Given the description of an element on the screen output the (x, y) to click on. 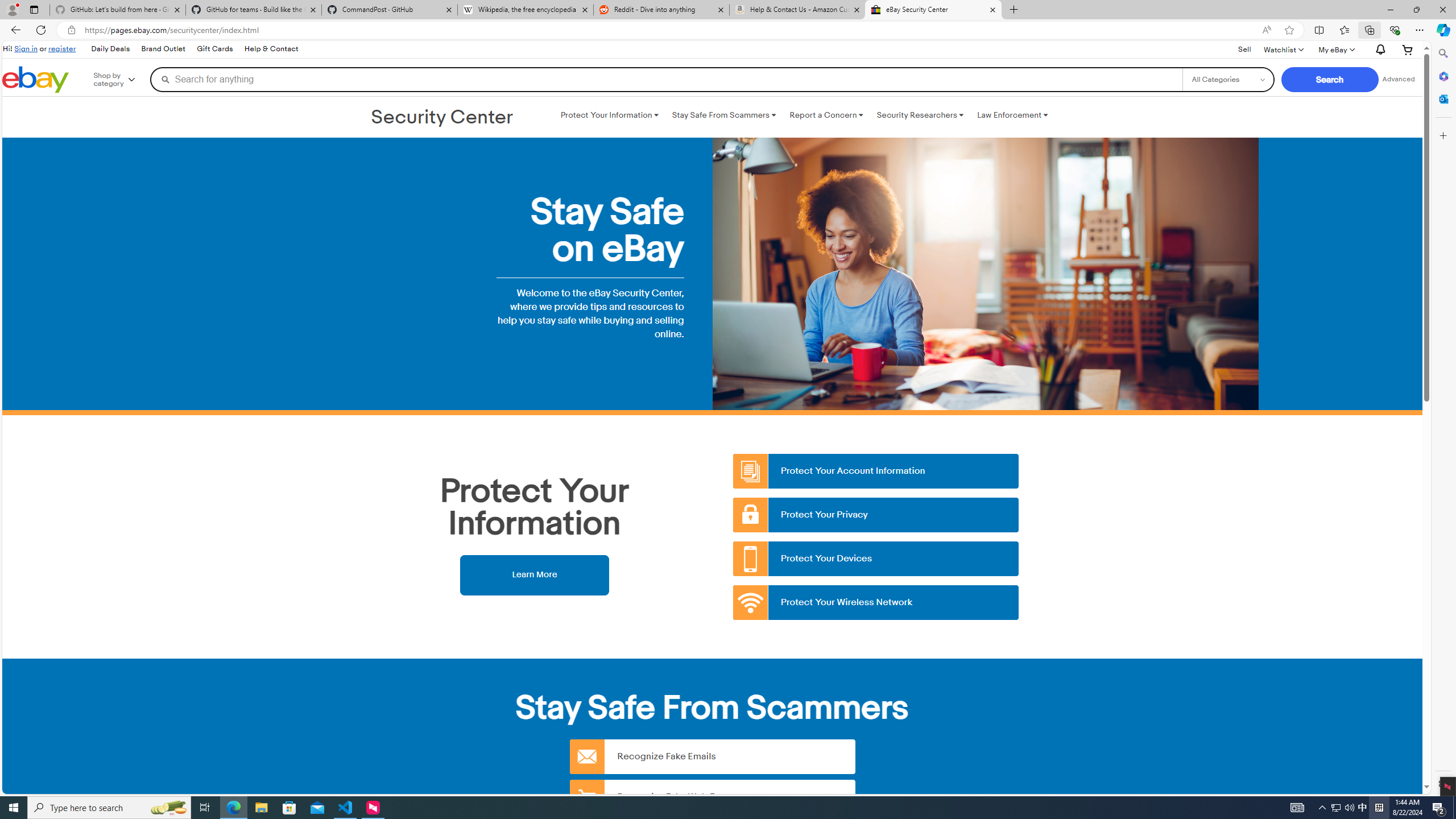
Security Researchers  (919, 115)
Protect Your Wireless Network (876, 602)
Shop by category (122, 79)
Advanced Search (1398, 78)
Watchlist (1282, 49)
eBay Security Center (933, 9)
Help & Contact Us - Amazon Customer Service - Sleeping (797, 9)
Reddit - Dive into anything (660, 9)
Expand Cart (1407, 49)
